Given the description of an element on the screen output the (x, y) to click on. 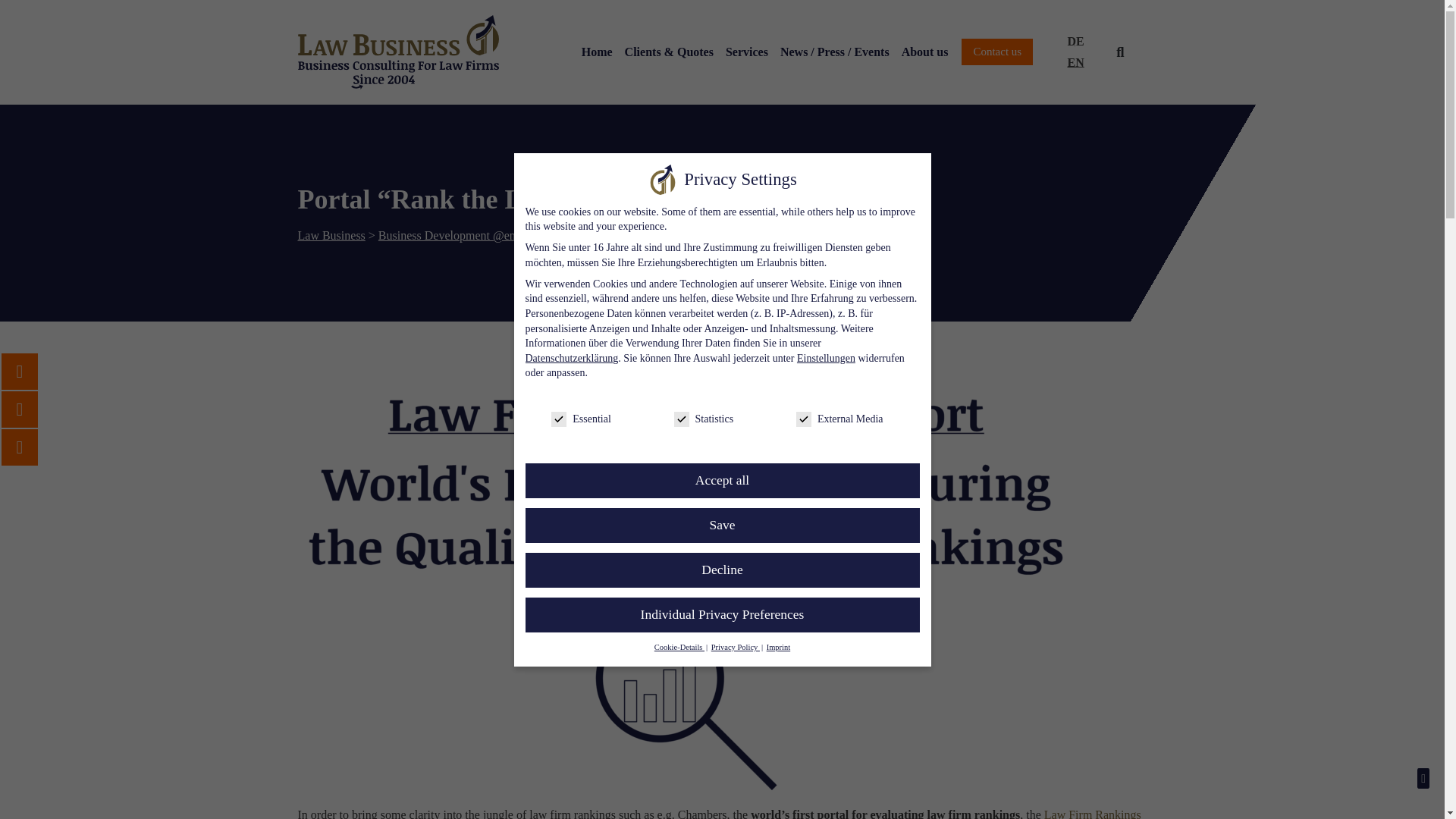
Home (596, 52)
EN (1074, 62)
Contact us (996, 51)
About us (924, 52)
Law Business (331, 235)
Go to Law Business. (331, 235)
Skip to content (11, 31)
Law Firm Rankings Report (718, 813)
DE (1074, 41)
Services (746, 52)
